Given the description of an element on the screen output the (x, y) to click on. 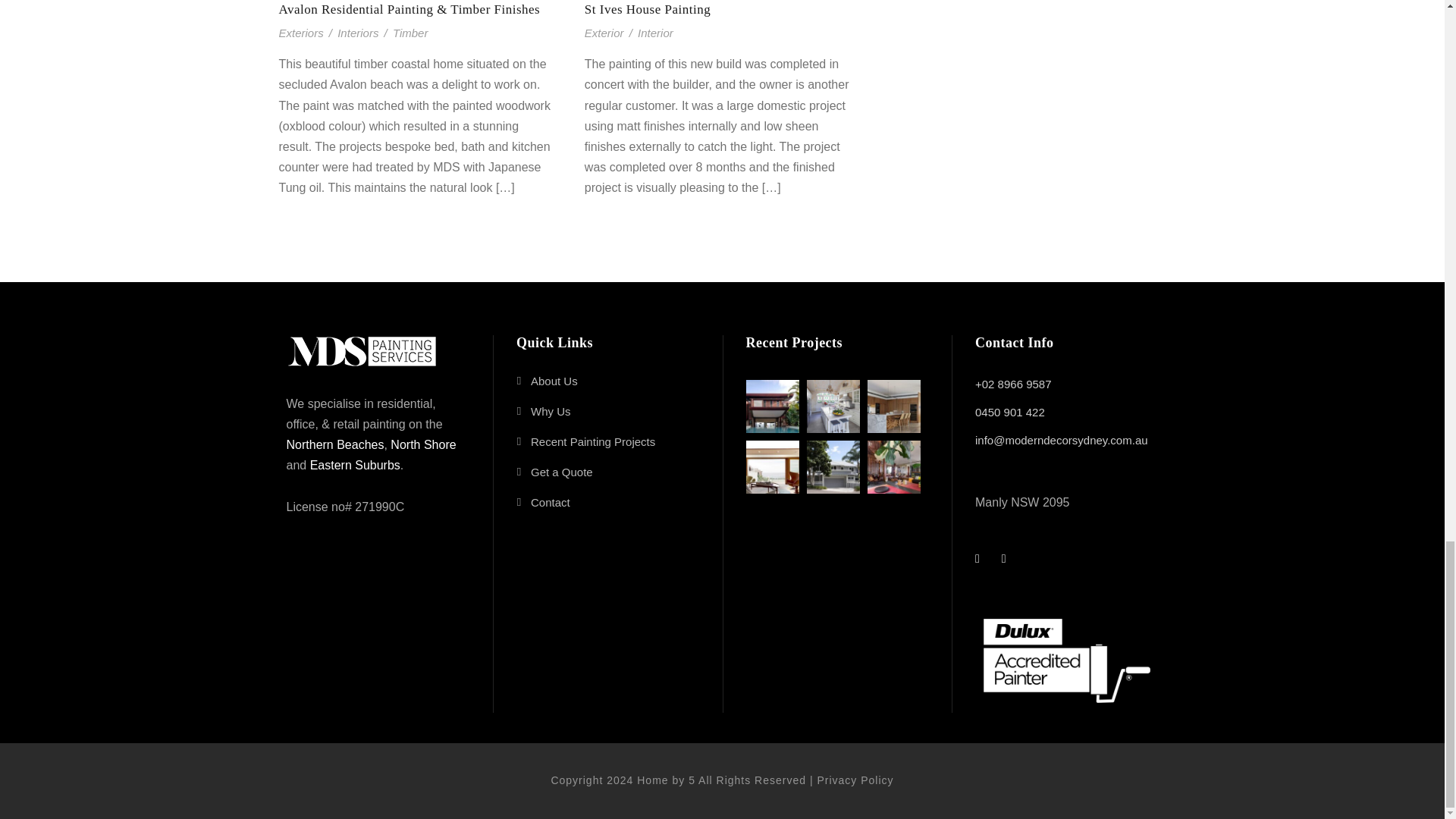
eastern-suburbs-commercial-painter (772, 406)
duffys-forest-kitchen (833, 406)
interior-painting-eastern-suburbs (772, 466)
timber-kitchen-interior (893, 406)
